Given the description of an element on the screen output the (x, y) to click on. 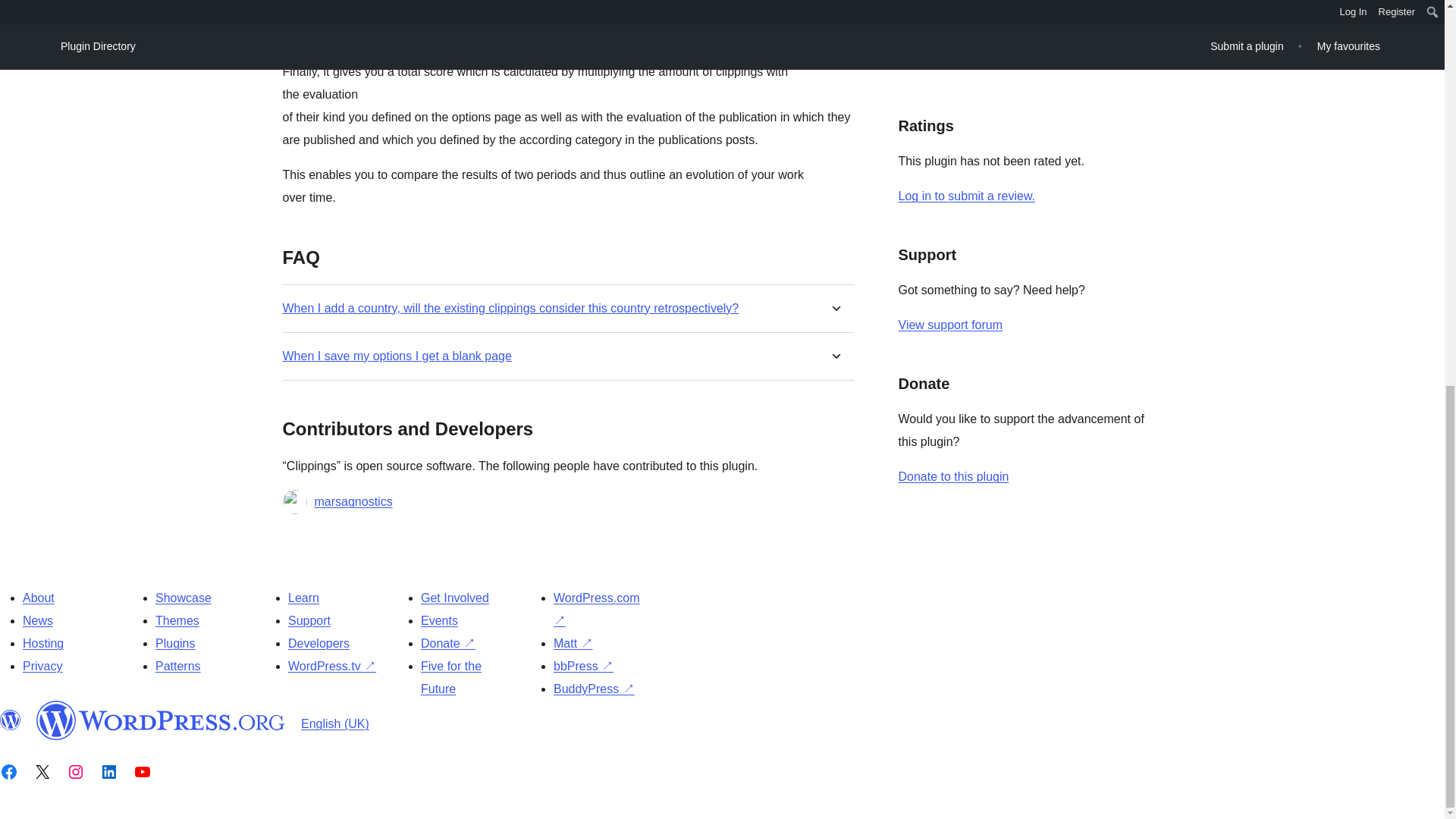
WordPress.org (10, 720)
Log in to WordPress.org (966, 195)
When I save my options I get a blank page (396, 355)
WordPress.org (160, 720)
marsagnostics (352, 501)
